Given the description of an element on the screen output the (x, y) to click on. 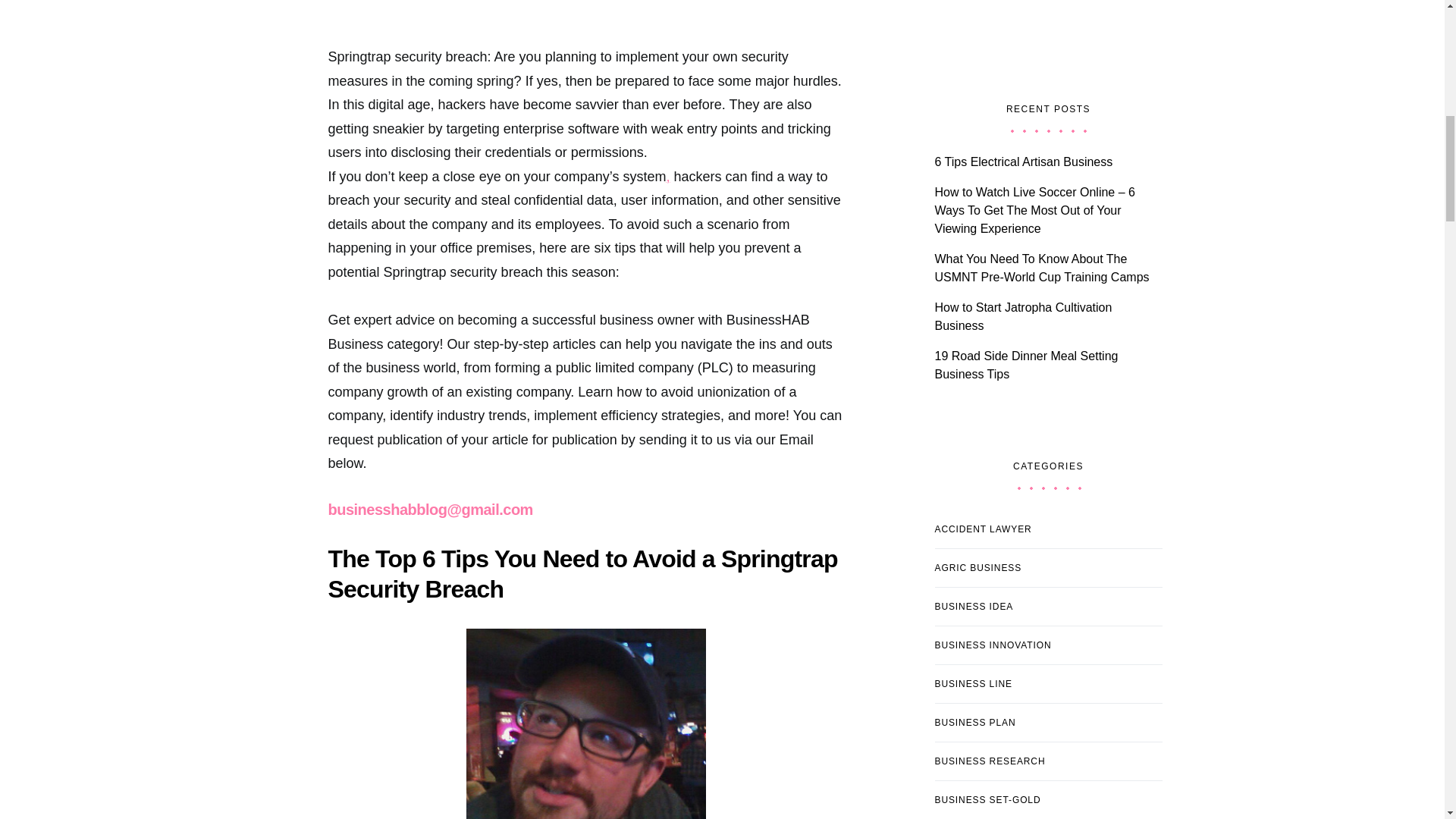
Advertisement (1047, 31)
Advertisement (585, 10)
